Given the description of an element on the screen output the (x, y) to click on. 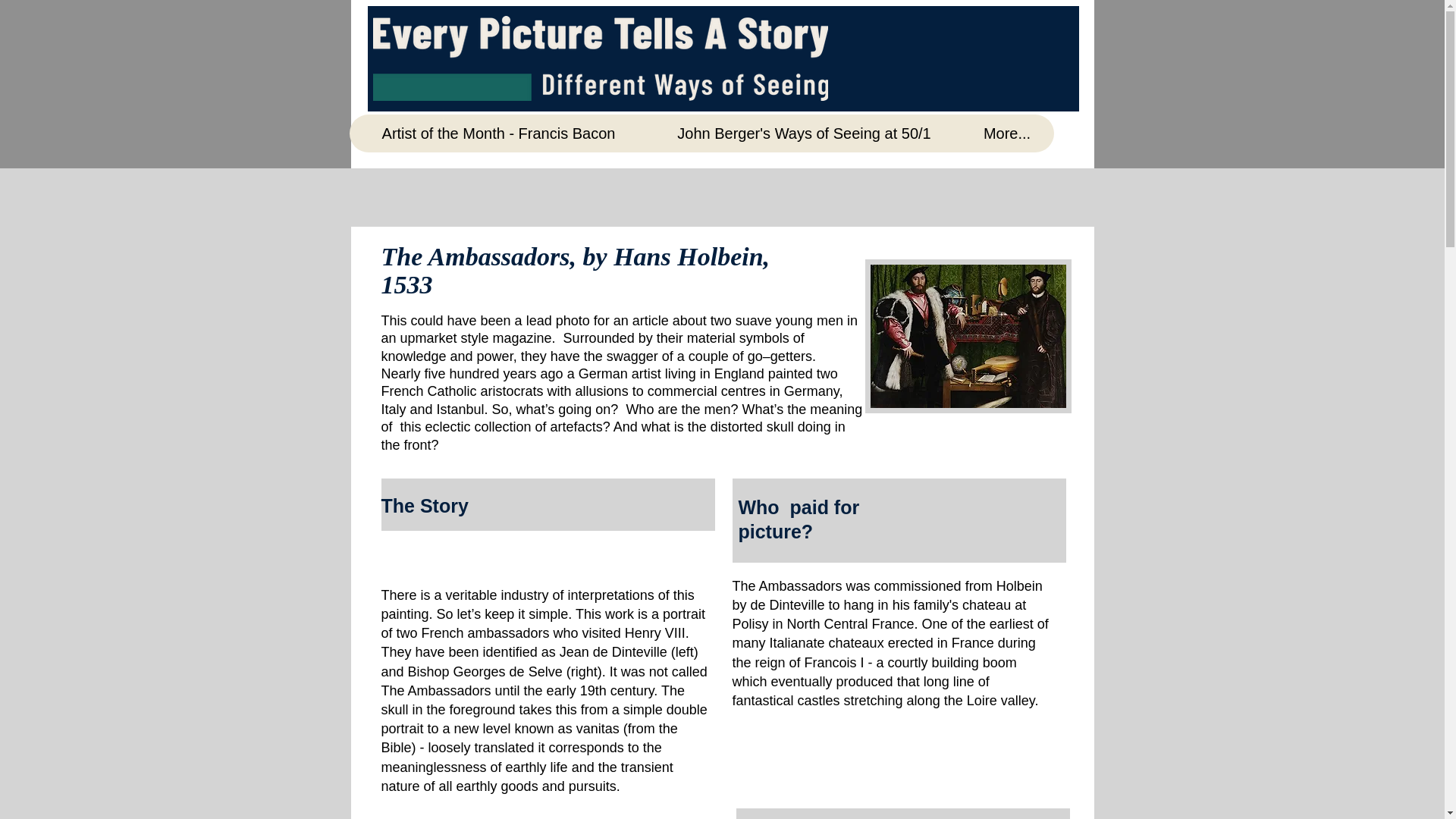
Twitter Tweet (1031, 17)
Facebook Like (930, 24)
Artist of the Month - Francis Bacon (498, 133)
